Given the description of an element on the screen output the (x, y) to click on. 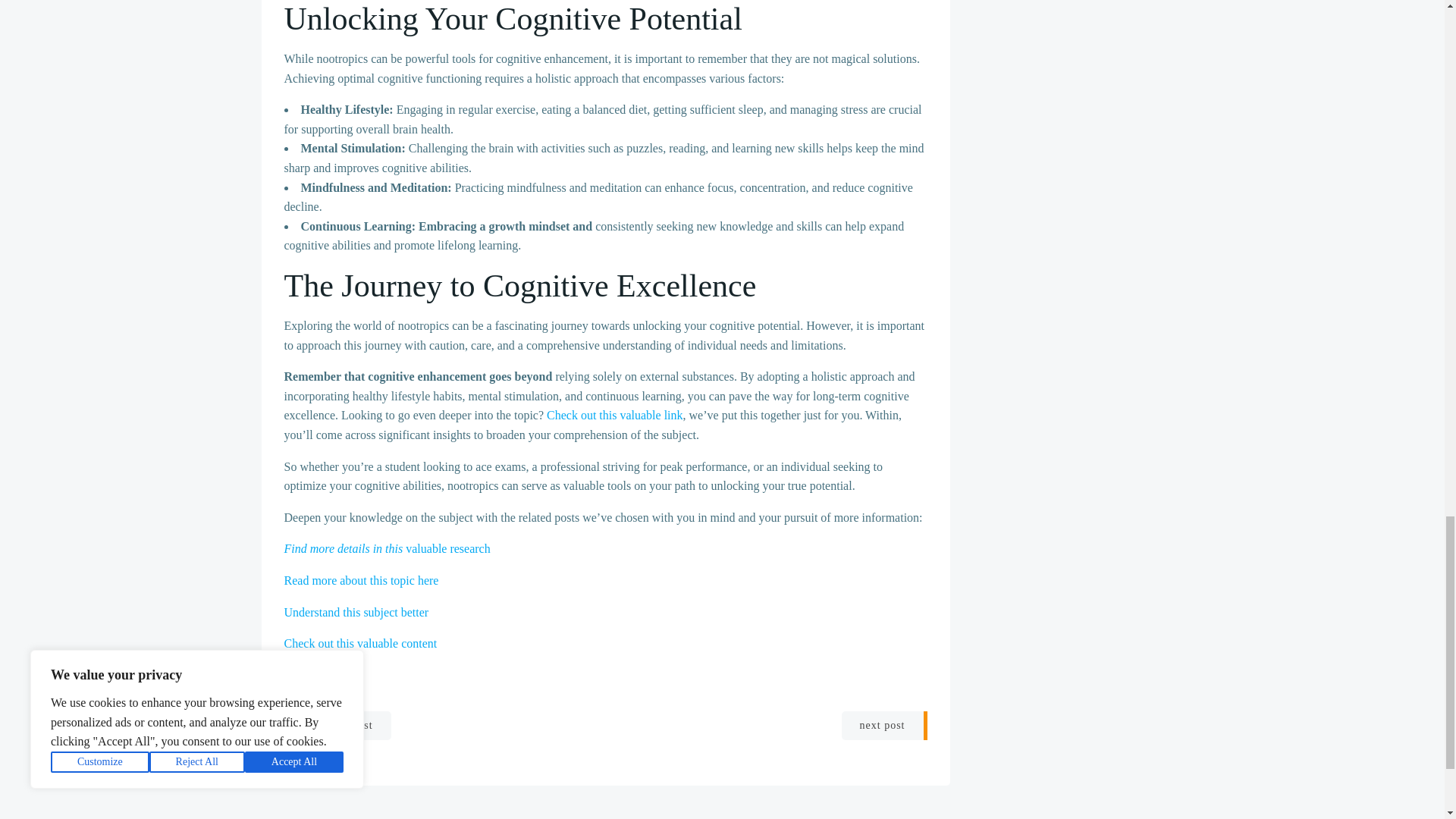
Check out this valuable content (359, 643)
previous post (336, 725)
Check out this valuable link (614, 414)
Find more details in this valuable research (386, 548)
next post (884, 725)
Understand this subject better (355, 611)
Read more about this topic here (360, 580)
